Given the description of an element on the screen output the (x, y) to click on. 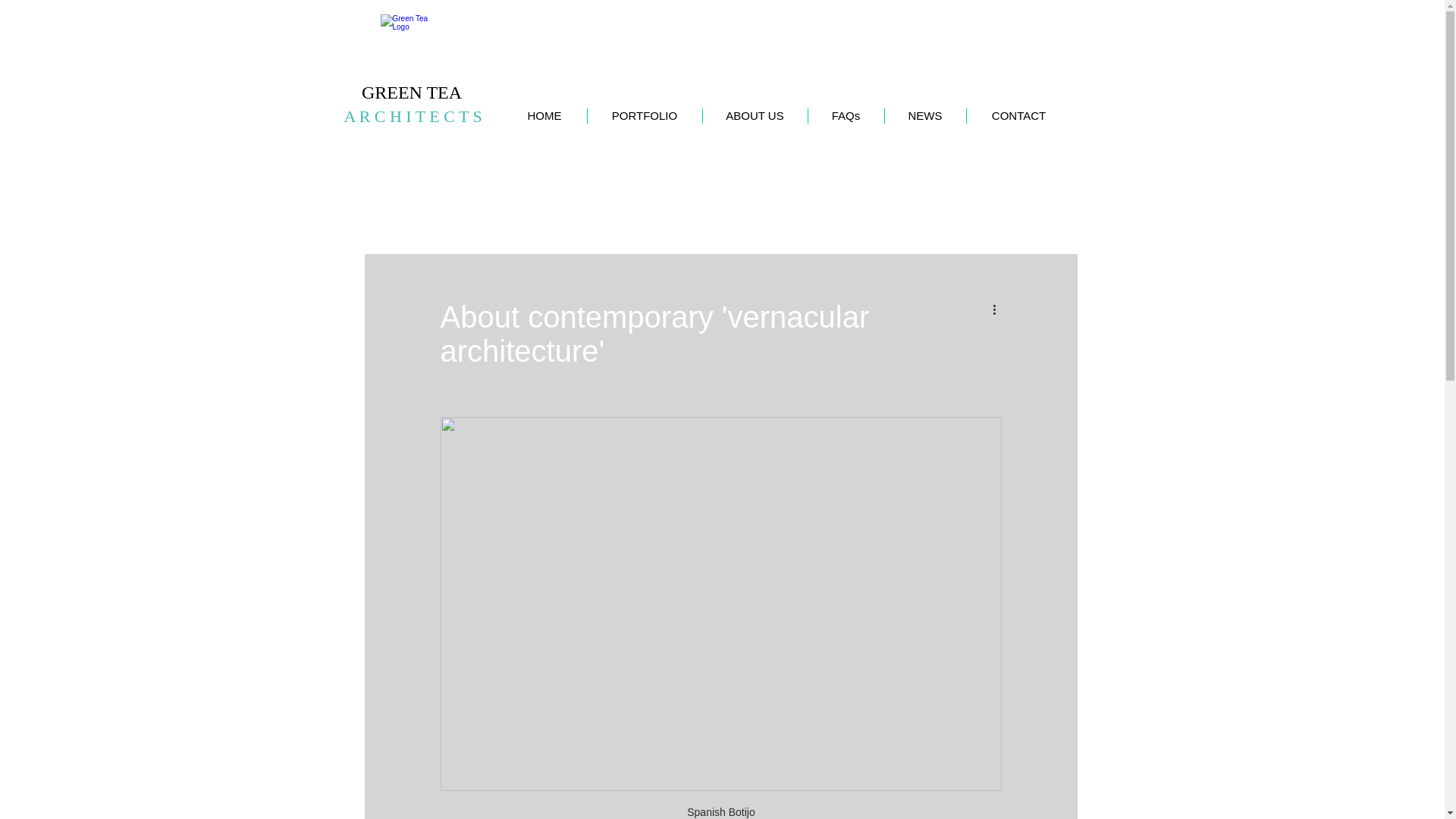
PORTFOLIO (643, 115)
ABOUT US (754, 115)
FAQs (844, 115)
NEWS (924, 115)
CONTACT (1018, 115)
HOME (544, 115)
